Given the description of an element on the screen output the (x, y) to click on. 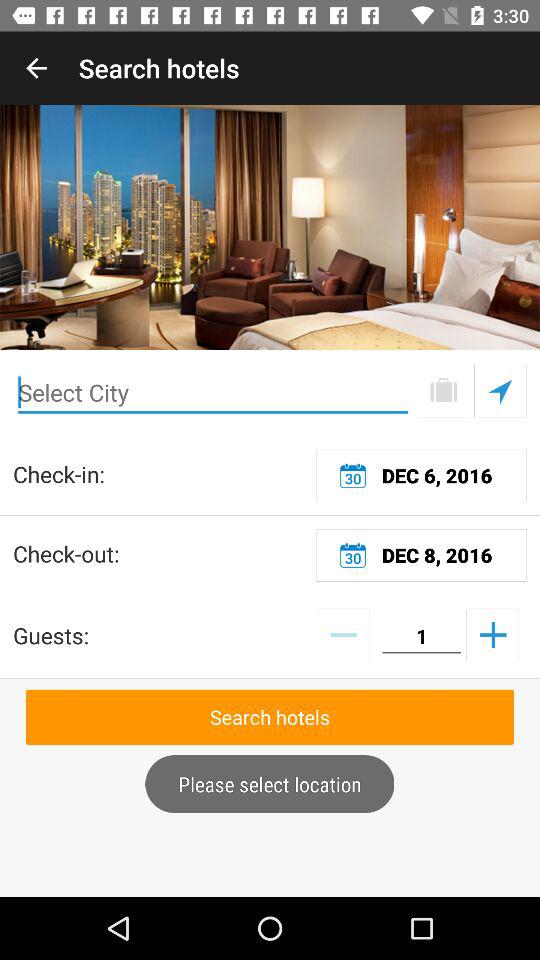
select page (443, 390)
